Given the description of an element on the screen output the (x, y) to click on. 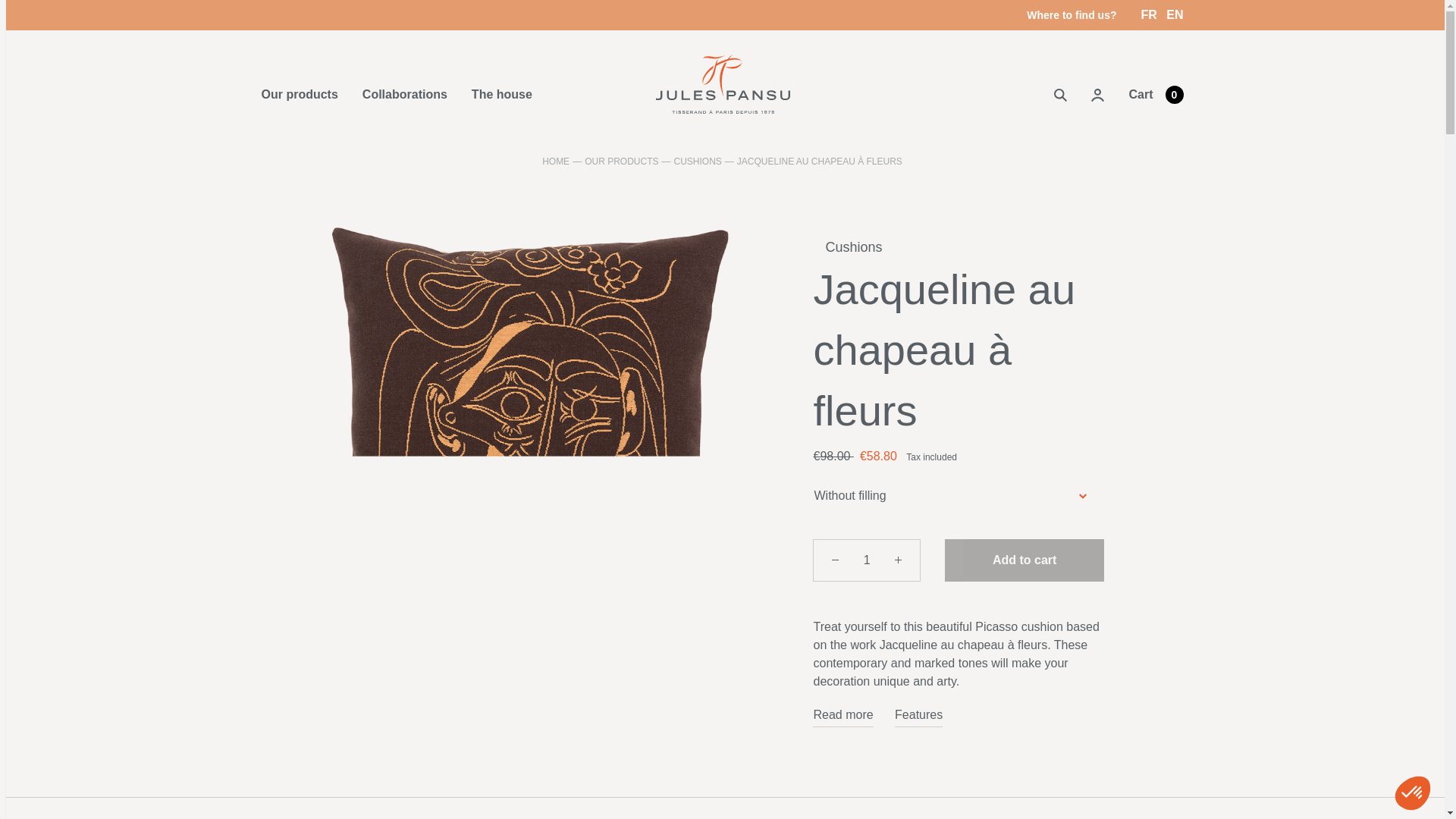
Where to find us? (1071, 15)
Our products (298, 94)
Stores (1071, 15)
FR (1150, 14)
0 (1201, 766)
